Given the description of an element on the screen output the (x, y) to click on. 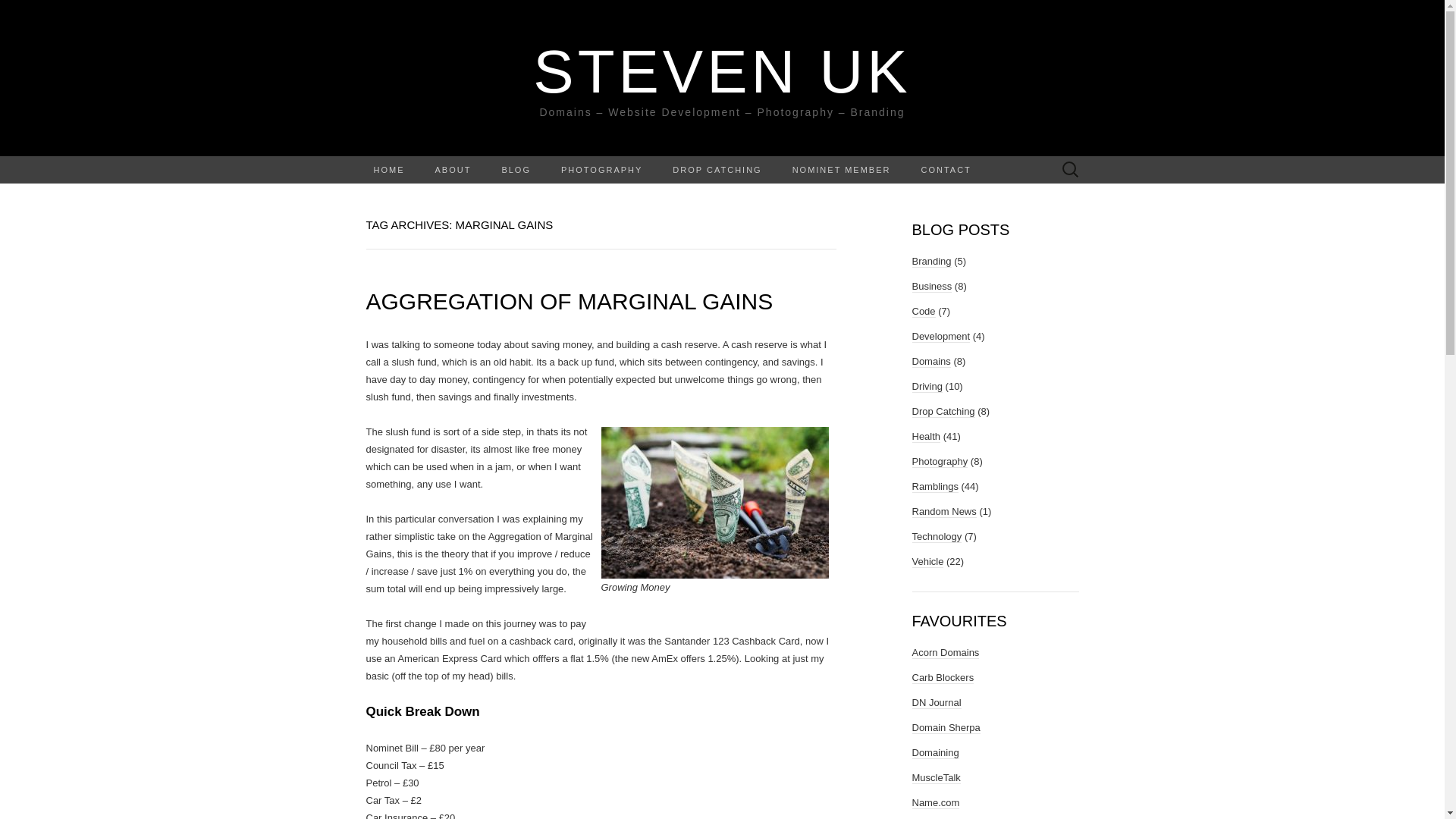
Steven UK (721, 71)
Photography (939, 461)
Ramblings (934, 486)
NOMINET MEMBER (841, 169)
Driving (926, 386)
DROP CATCHING (717, 169)
Health (925, 436)
HOME (388, 169)
Random News (943, 511)
Branding (930, 261)
Code (922, 311)
Business (931, 286)
Drop Catching (942, 411)
PHOTOGRAPHY (602, 169)
STEVEN UK (721, 71)
